Given the description of an element on the screen output the (x, y) to click on. 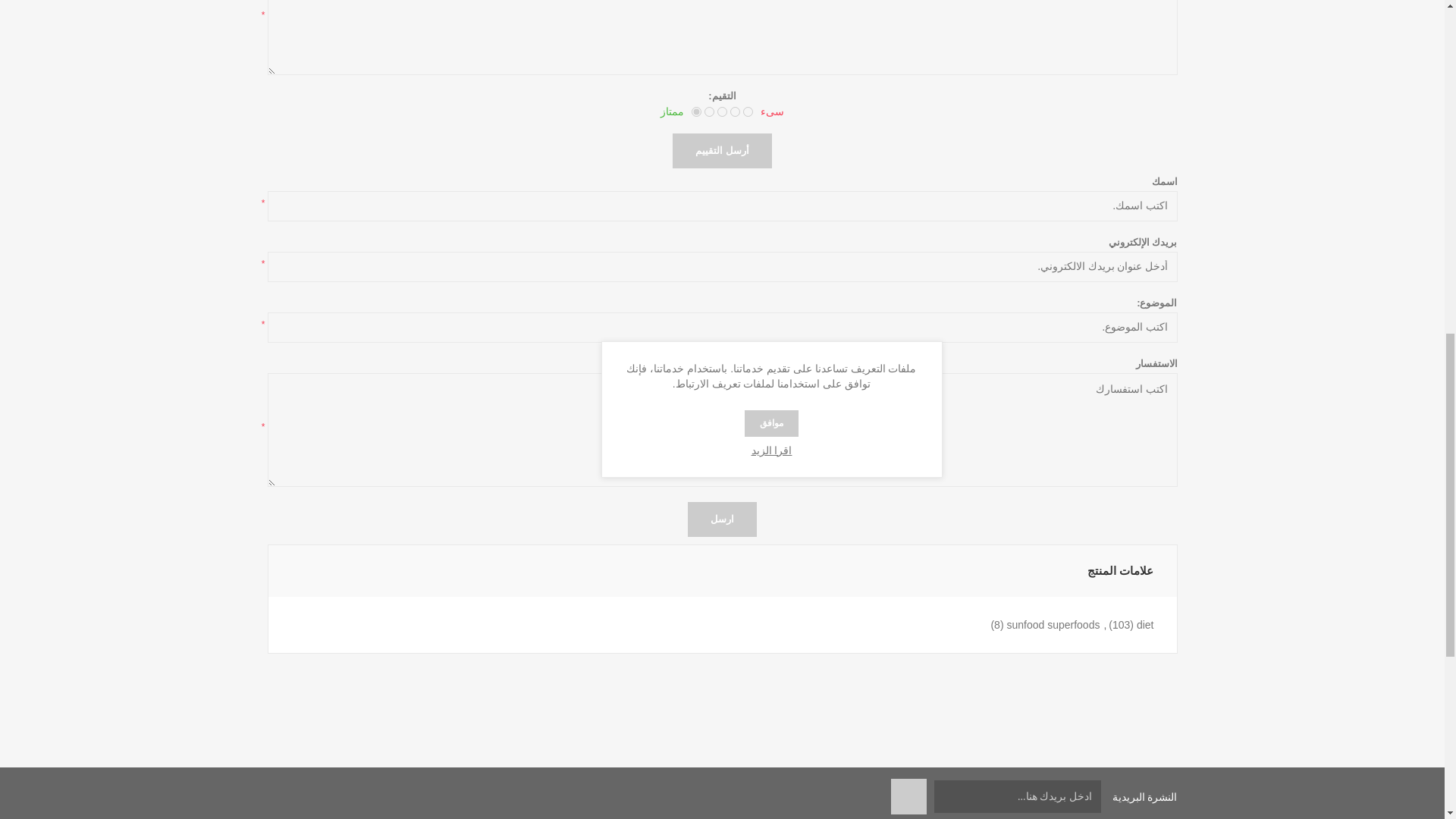
4 (709, 112)
3 (721, 112)
2 (734, 112)
5 (696, 112)
1 (747, 112)
